Given the description of an element on the screen output the (x, y) to click on. 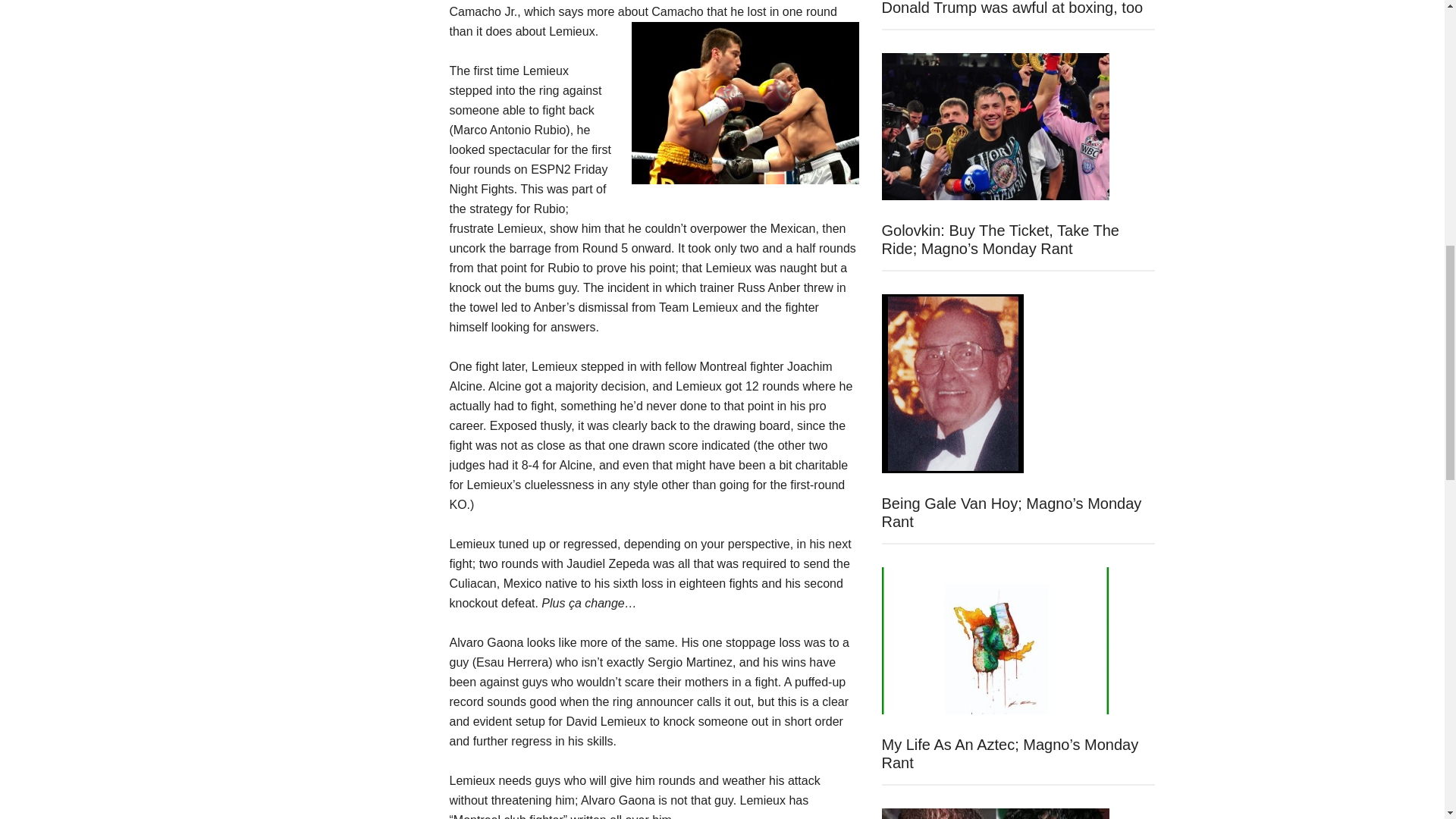
Donald Trump was awful at boxing, too (1011, 7)
David Lemieux2 (744, 103)
